Given the description of an element on the screen output the (x, y) to click on. 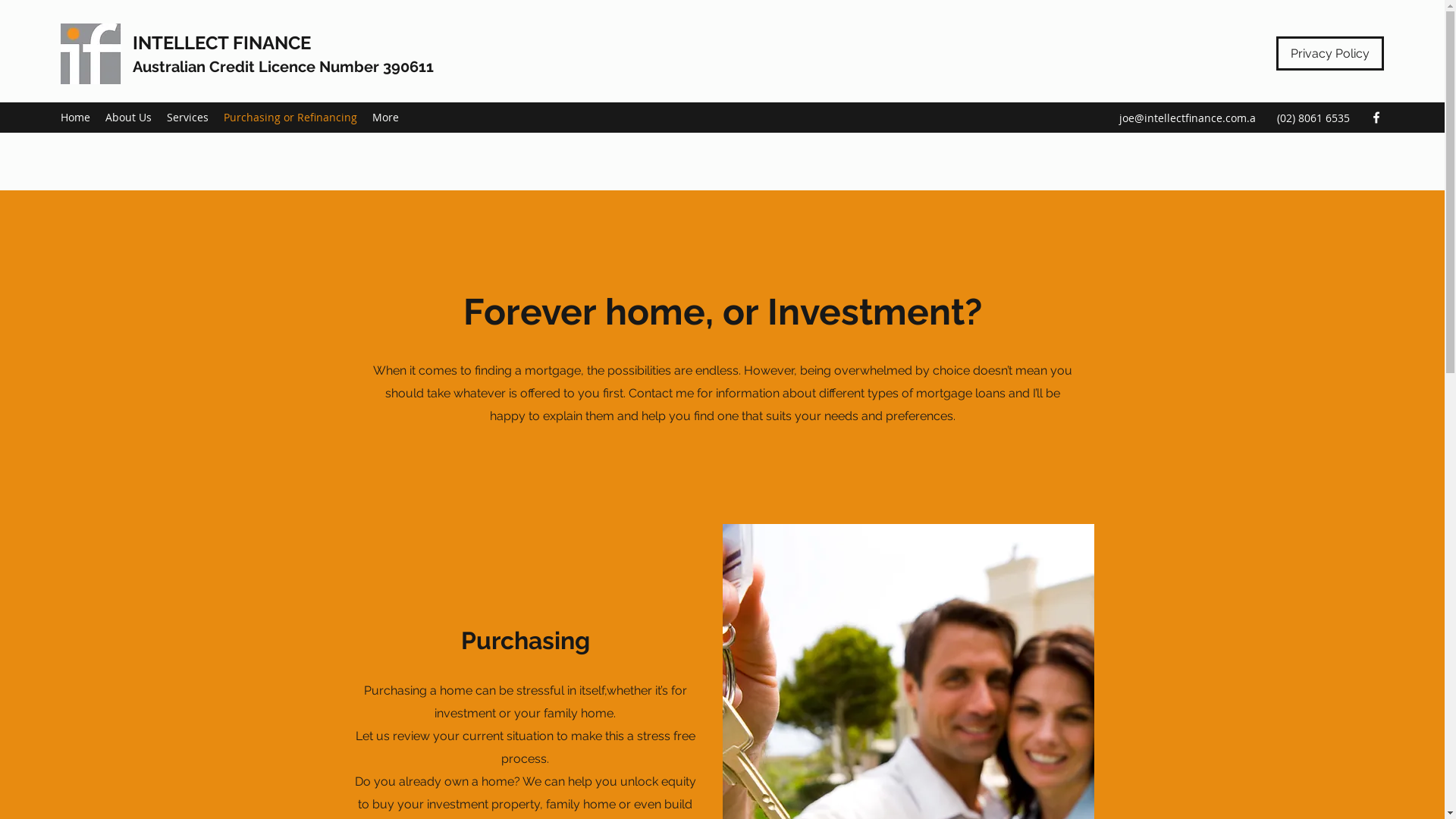
Services Element type: text (187, 117)
Purchasing or Refinancing Element type: text (290, 117)
joe@intellectfinance.com.au Element type: text (1187, 127)
Privacy Policy Element type: text (1329, 53)
Home Element type: text (75, 117)
About Us Element type: text (128, 117)
